Given the description of an element on the screen output the (x, y) to click on. 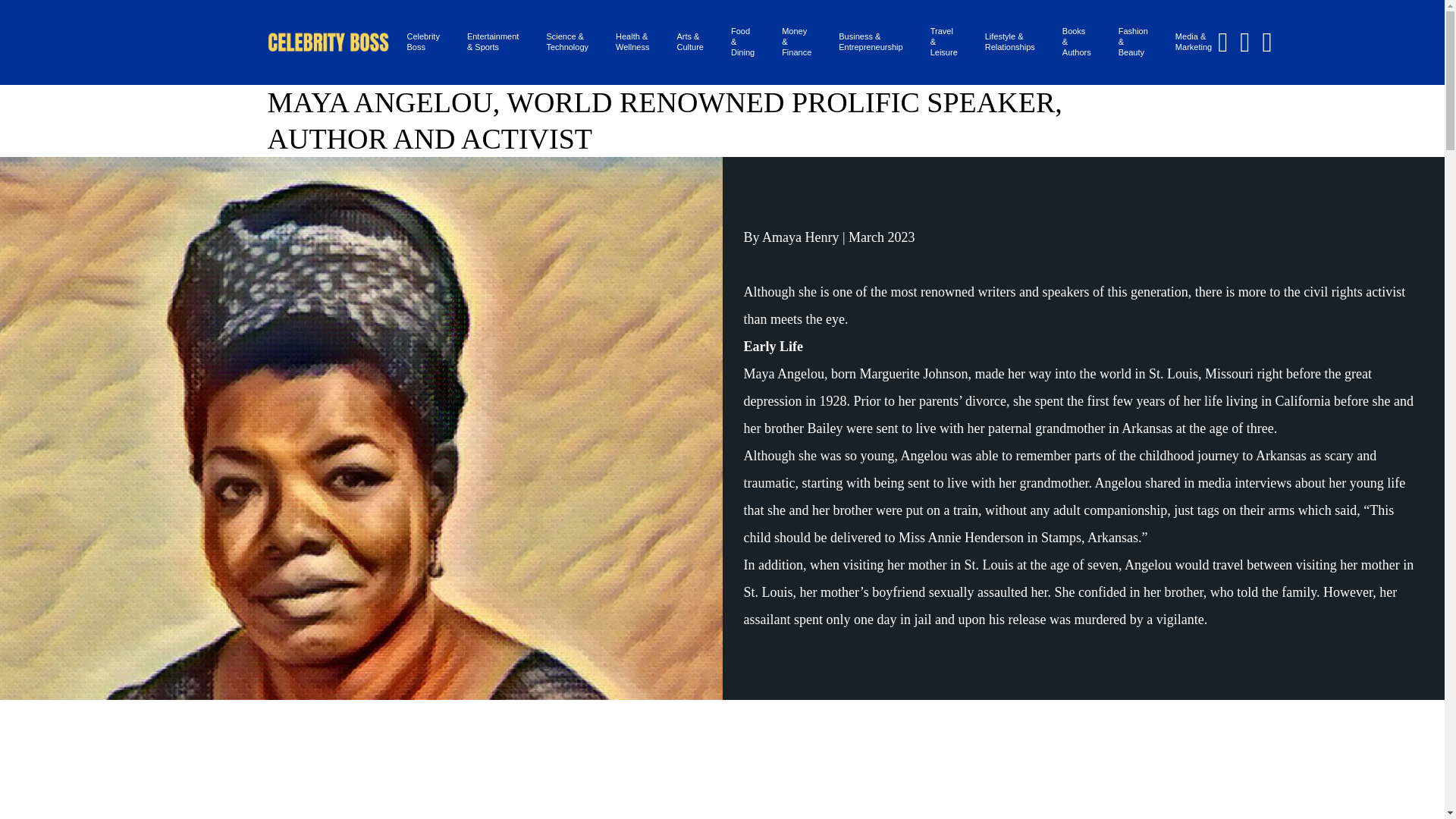
Celebrity Boss (422, 42)
